Given the description of an element on the screen output the (x, y) to click on. 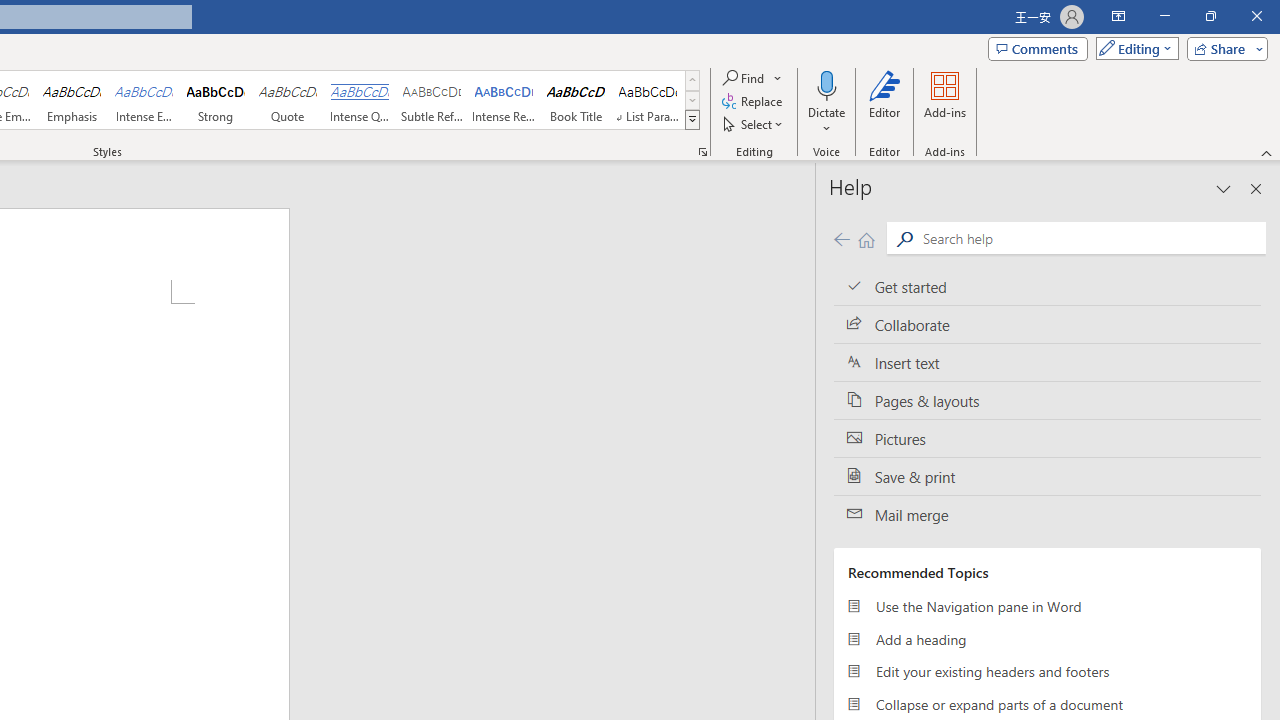
Intense Quote (359, 100)
Close pane (1256, 188)
Strong (216, 100)
Replace... (753, 101)
Add a heading (1047, 638)
Emphasis (71, 100)
Subtle Reference (431, 100)
Close (1256, 16)
Intense Reference (504, 100)
Class: NetUIImage (692, 119)
Dictate (826, 102)
Editor (885, 102)
Minimize (1164, 16)
